Given the description of an element on the screen output the (x, y) to click on. 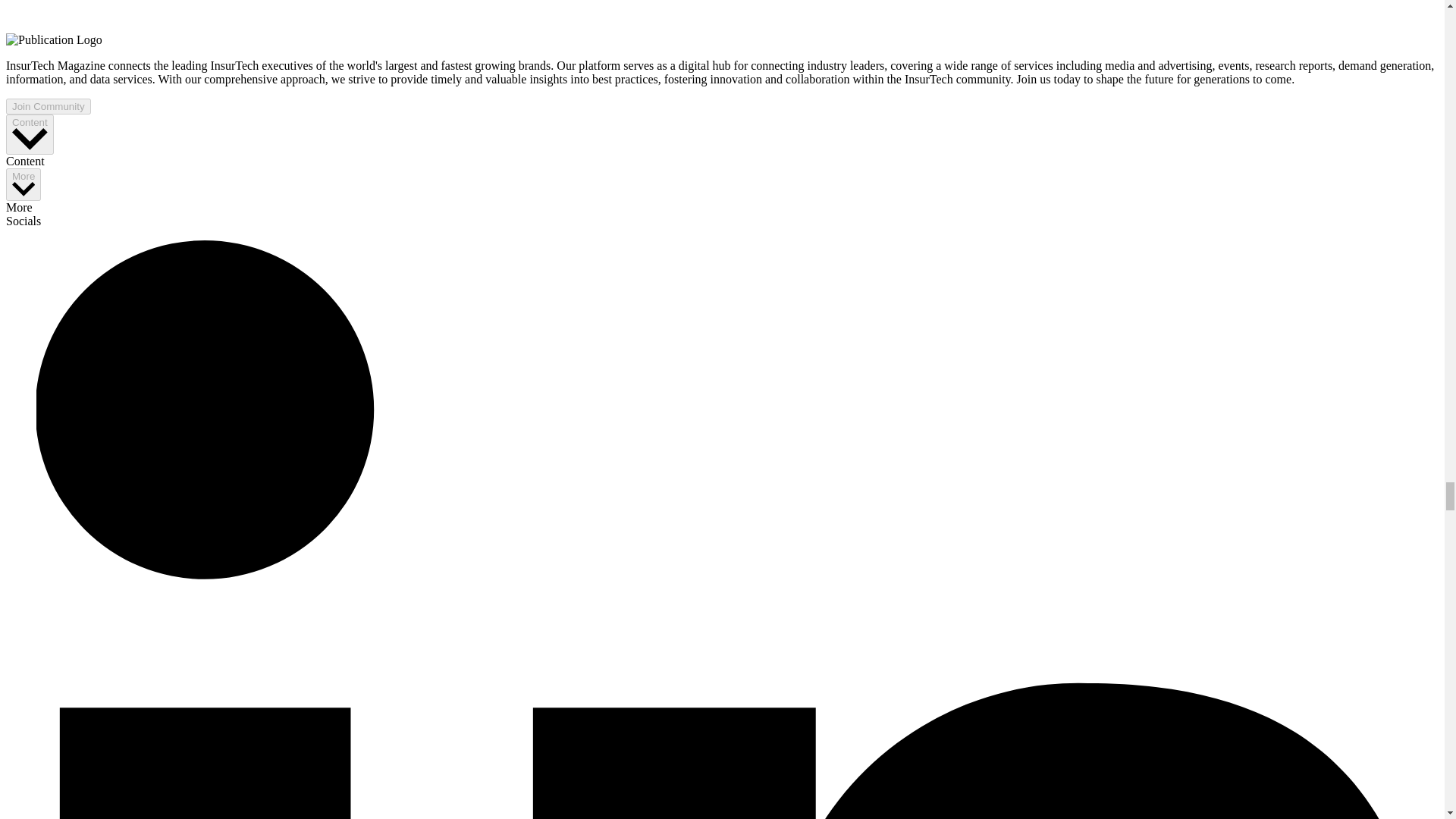
More (22, 184)
Join Community (47, 106)
Content (29, 134)
